Given the description of an element on the screen output the (x, y) to click on. 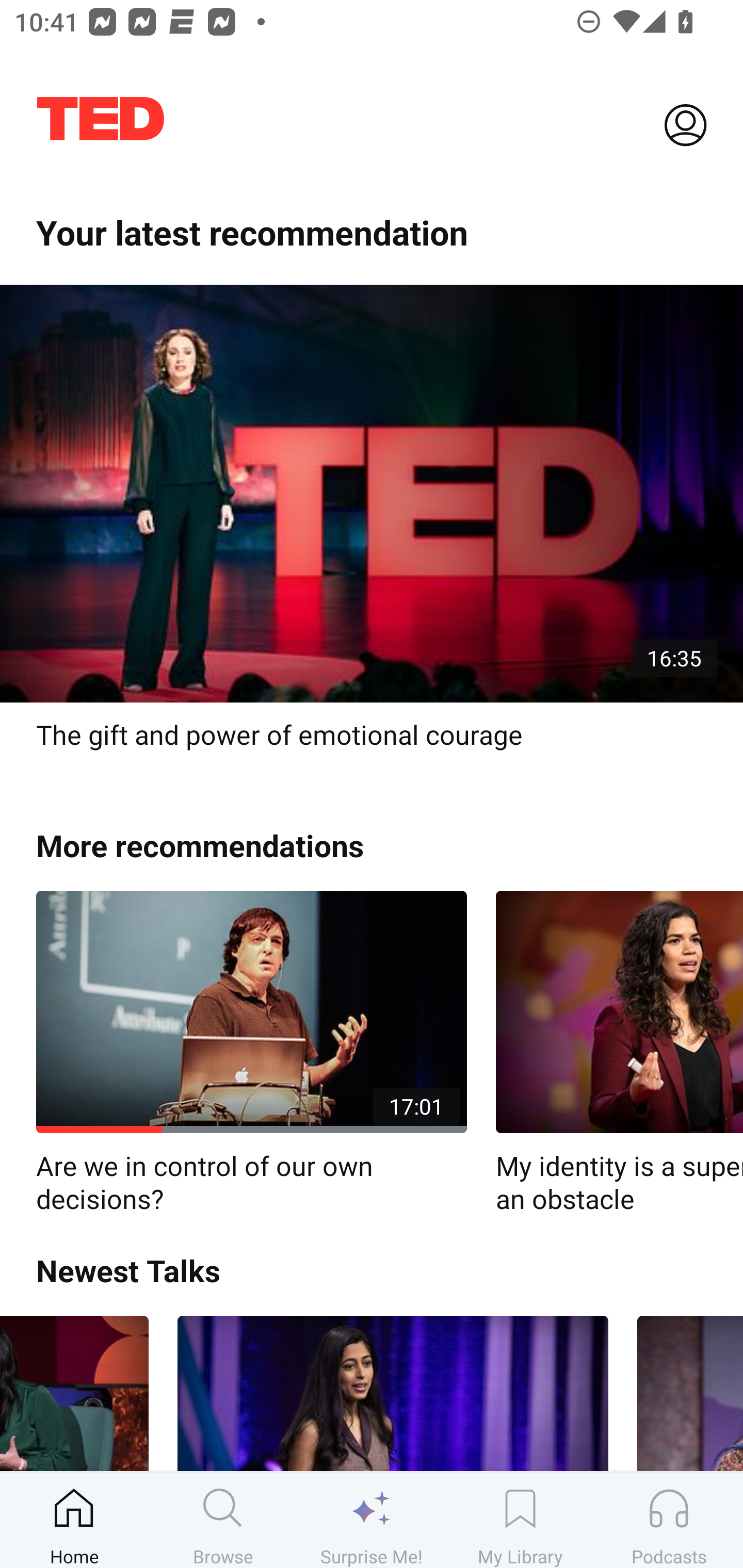
17:01 Are we in control of our own decisions? (251, 1053)
My identity is a superpower -- not an obstacle (619, 1053)
Home (74, 1520)
Browse (222, 1520)
Surprise Me! (371, 1520)
My Library (519, 1520)
Podcasts (668, 1520)
